Given the description of an element on the screen output the (x, y) to click on. 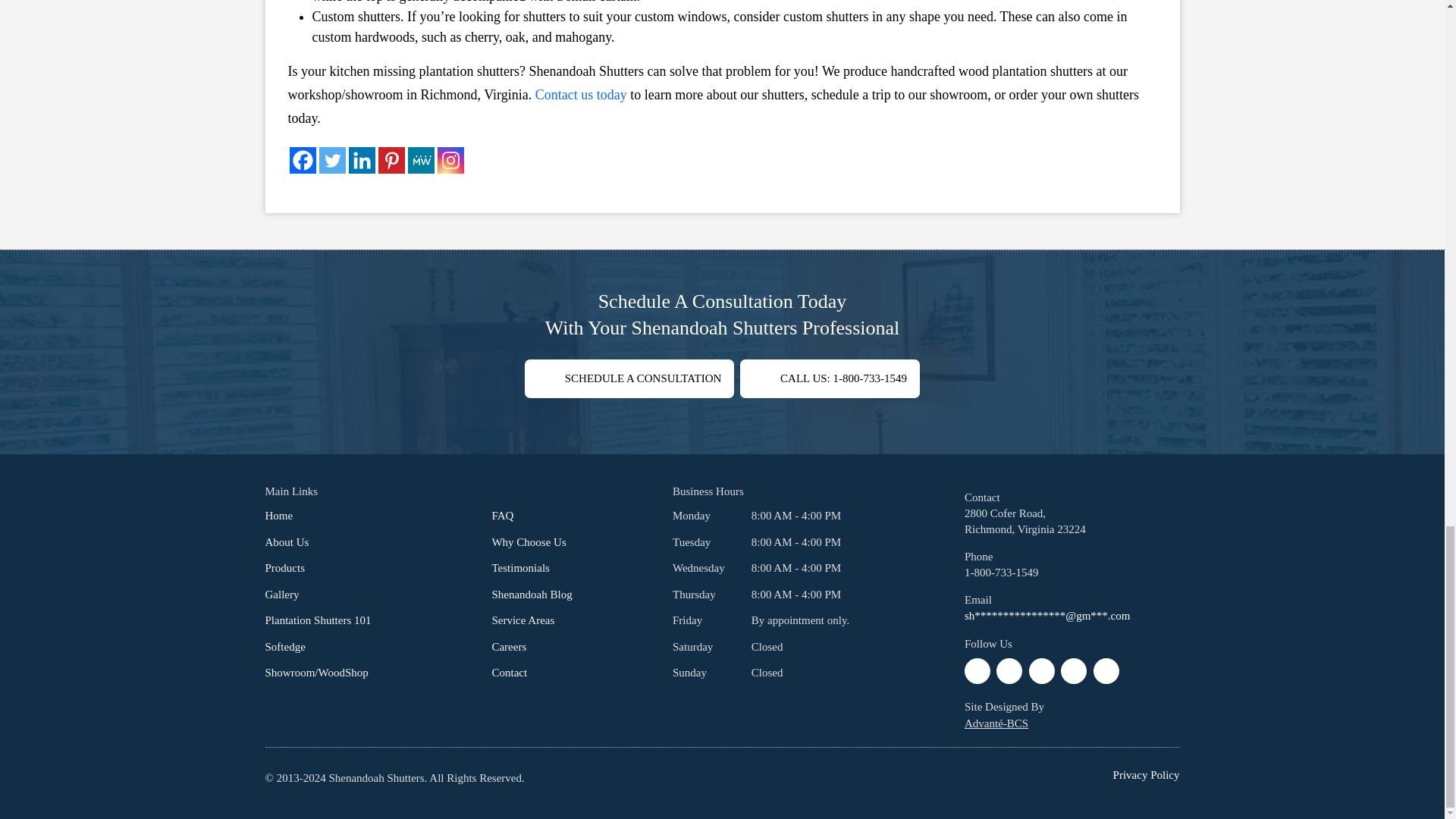
Instagram (449, 160)
Facebook (302, 160)
Gallery (281, 594)
SCHEDULE A CONSULTATION (628, 378)
Testimonials (520, 567)
MeWe (420, 160)
Pinterest (390, 160)
Plantation Shutters 101 (317, 620)
Home (279, 515)
Linkedin (362, 160)
Twitter (331, 160)
About Us (286, 541)
Service Areas (523, 620)
Contact us today (581, 94)
